Given the description of an element on the screen output the (x, y) to click on. 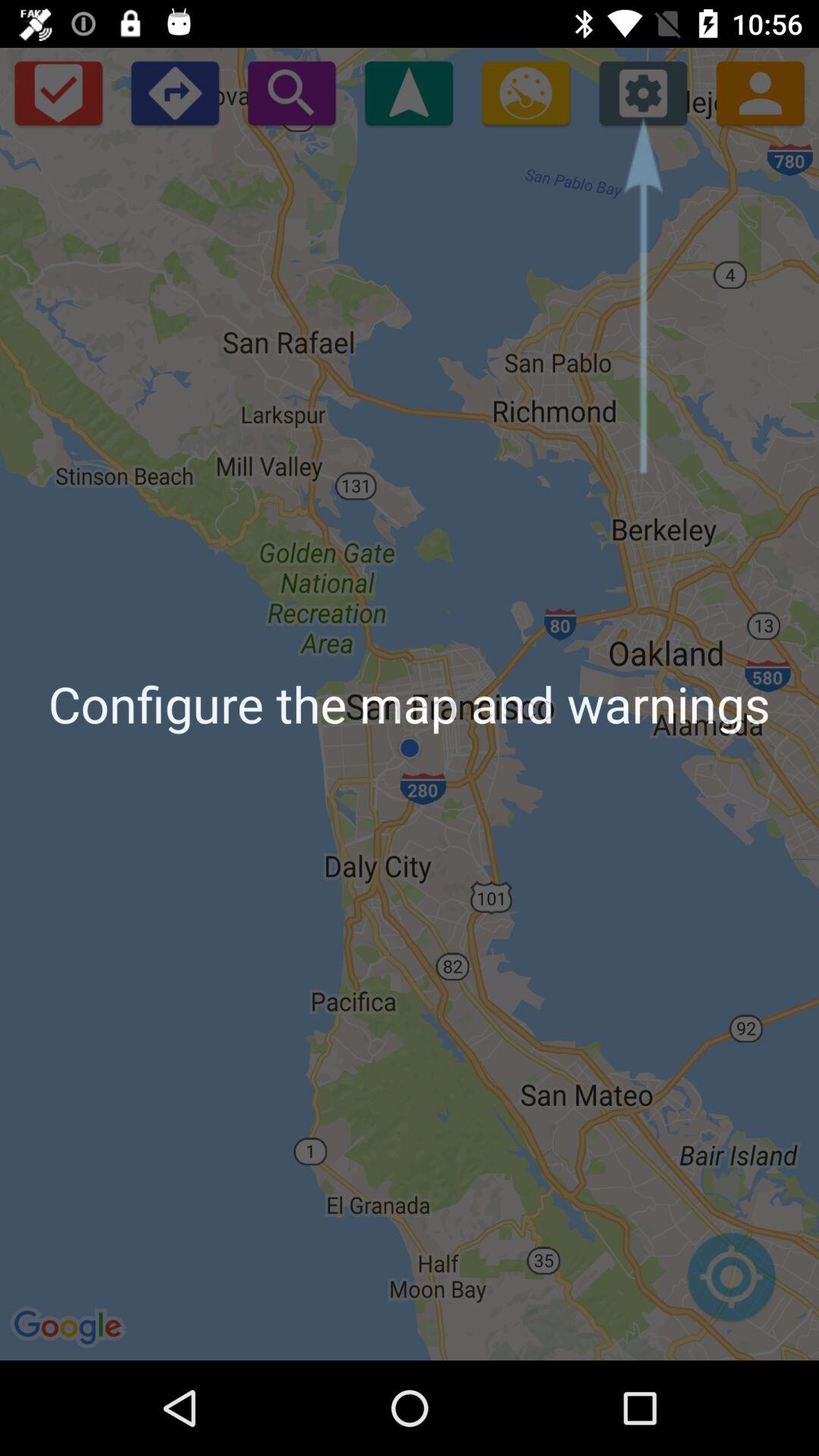
launch item above the configure the map item (760, 92)
